Given the description of an element on the screen output the (x, y) to click on. 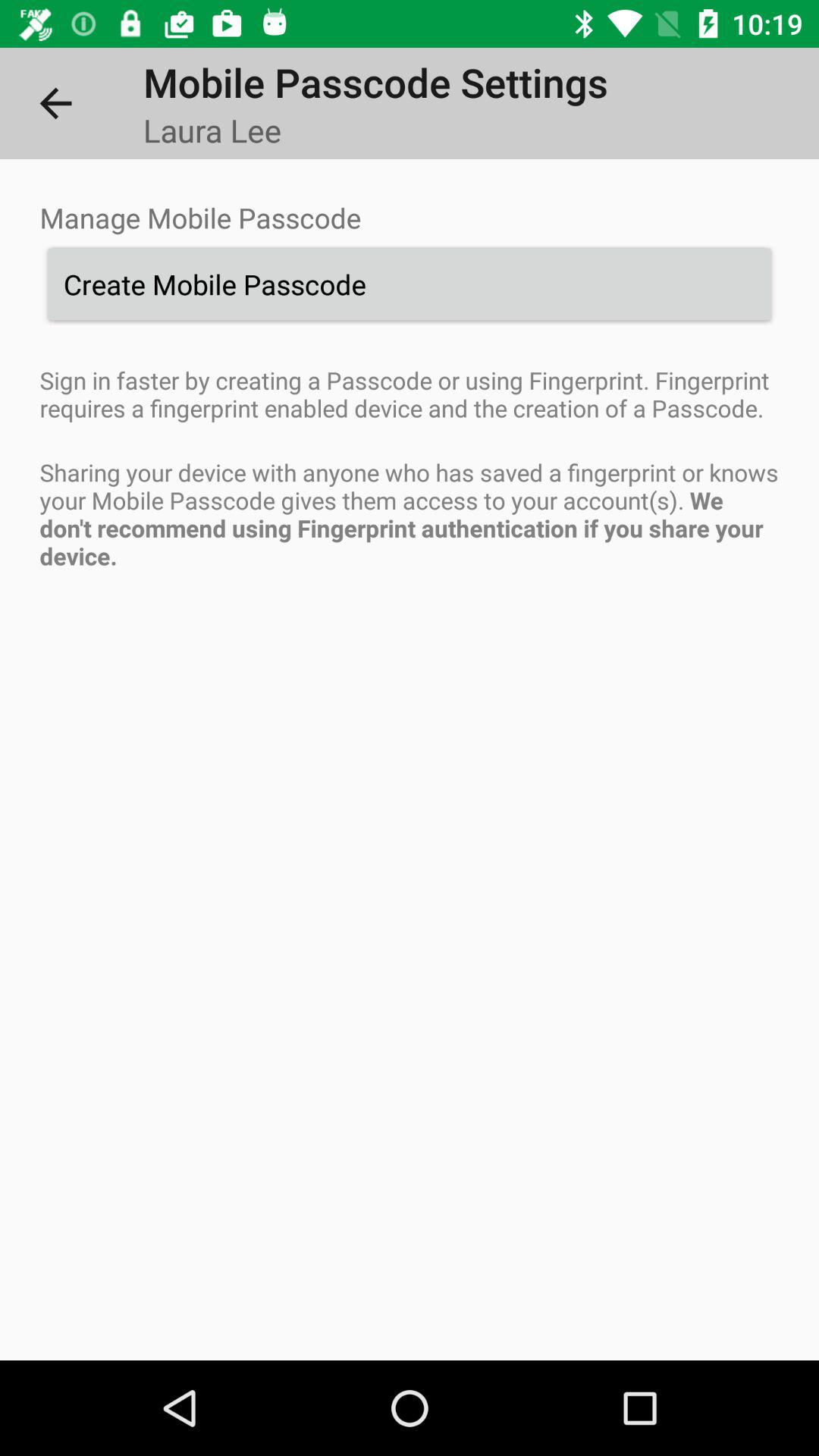
choose item above manage mobile passcode item (55, 103)
